Given the description of an element on the screen output the (x, y) to click on. 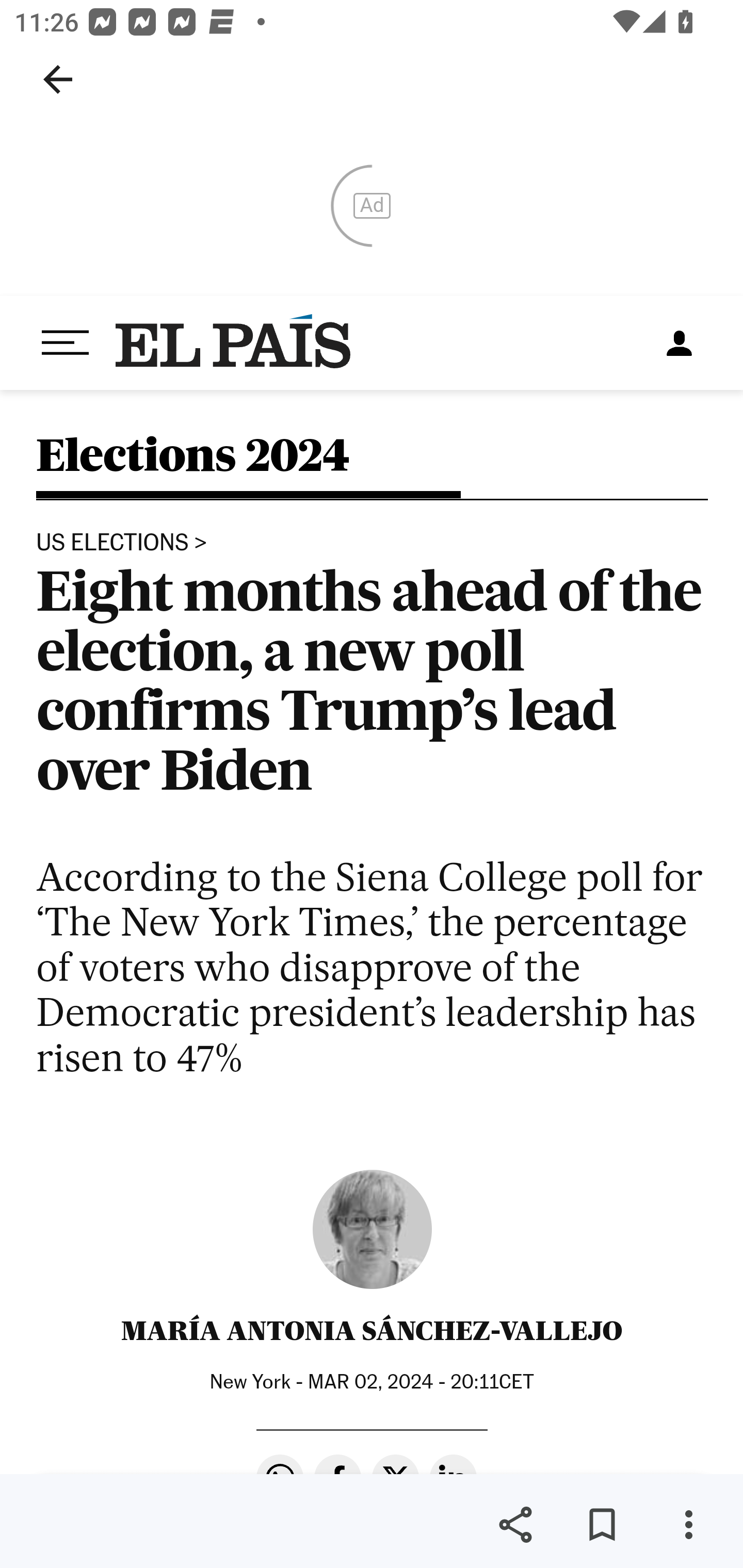
Navigate up (57, 79)
EL PAÍS (233, 342)
Elections 2024 (193, 466)
US ELECTIONS> US ELECTIONS > (121, 542)
MARÍA ANTONIA SÁNCHEZ-VALLEJO (371, 1330)
Share (514, 1524)
Save for later (601, 1524)
More options (688, 1524)
